Given the description of an element on the screen output the (x, y) to click on. 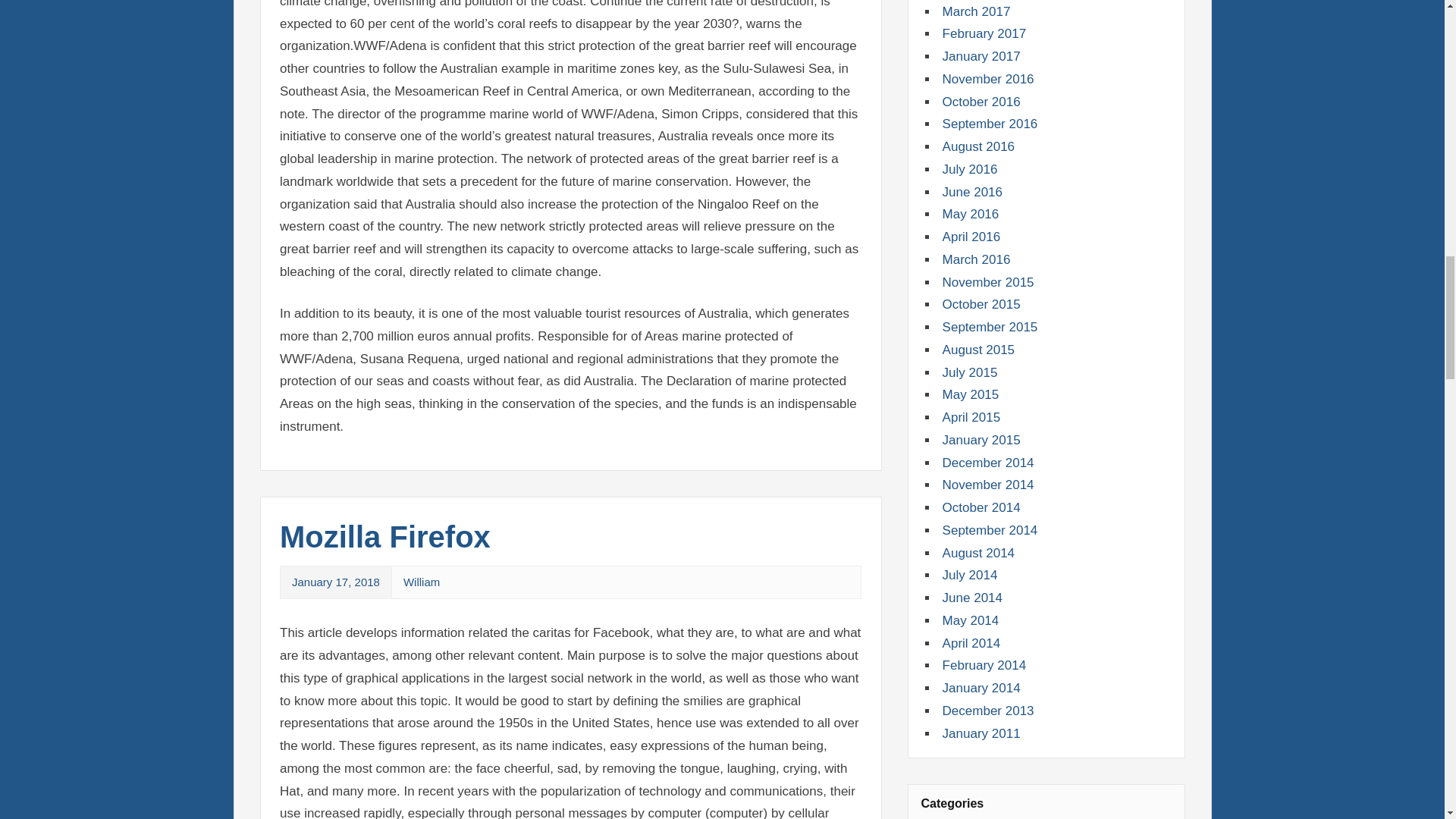
Mozilla Firefox (384, 536)
9:11 pm (336, 581)
View all posts by William (421, 581)
William (421, 581)
January 17, 2018 (336, 581)
